Given the description of an element on the screen output the (x, y) to click on. 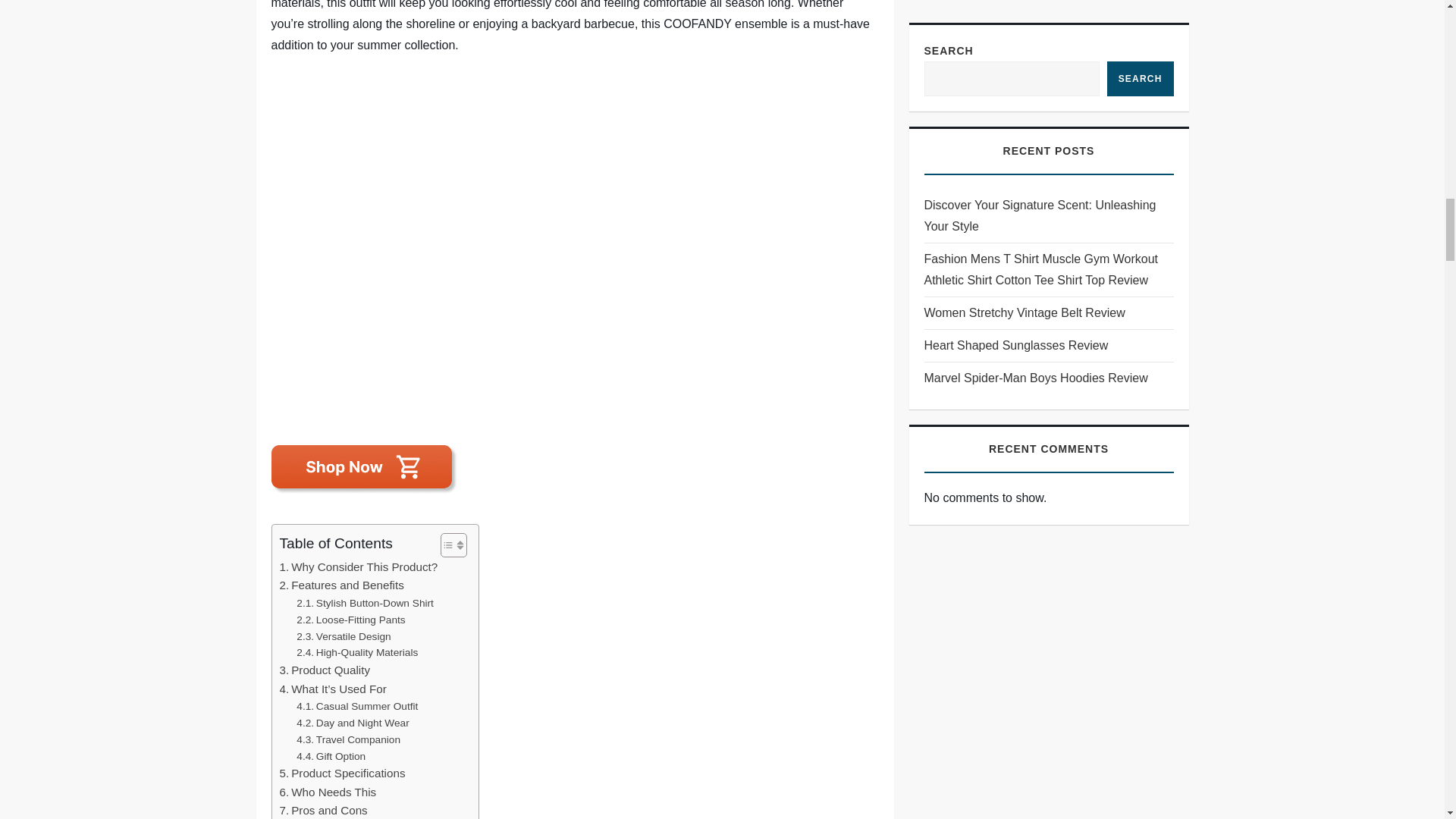
Casual Summer Outfit (357, 706)
Who Needs This (327, 791)
Versatile Design (343, 636)
High-Quality Materials (357, 652)
Gift Option (331, 756)
Pros and Cons (322, 810)
Features and Benefits (341, 585)
Travel Companion (348, 740)
Product Quality (324, 669)
Who Needs This (327, 791)
Day and Night Wear (353, 723)
Features and Benefits (341, 585)
Product Specifications (341, 773)
Gift Option (331, 756)
Why Consider This Product? (358, 566)
